Given the description of an element on the screen output the (x, y) to click on. 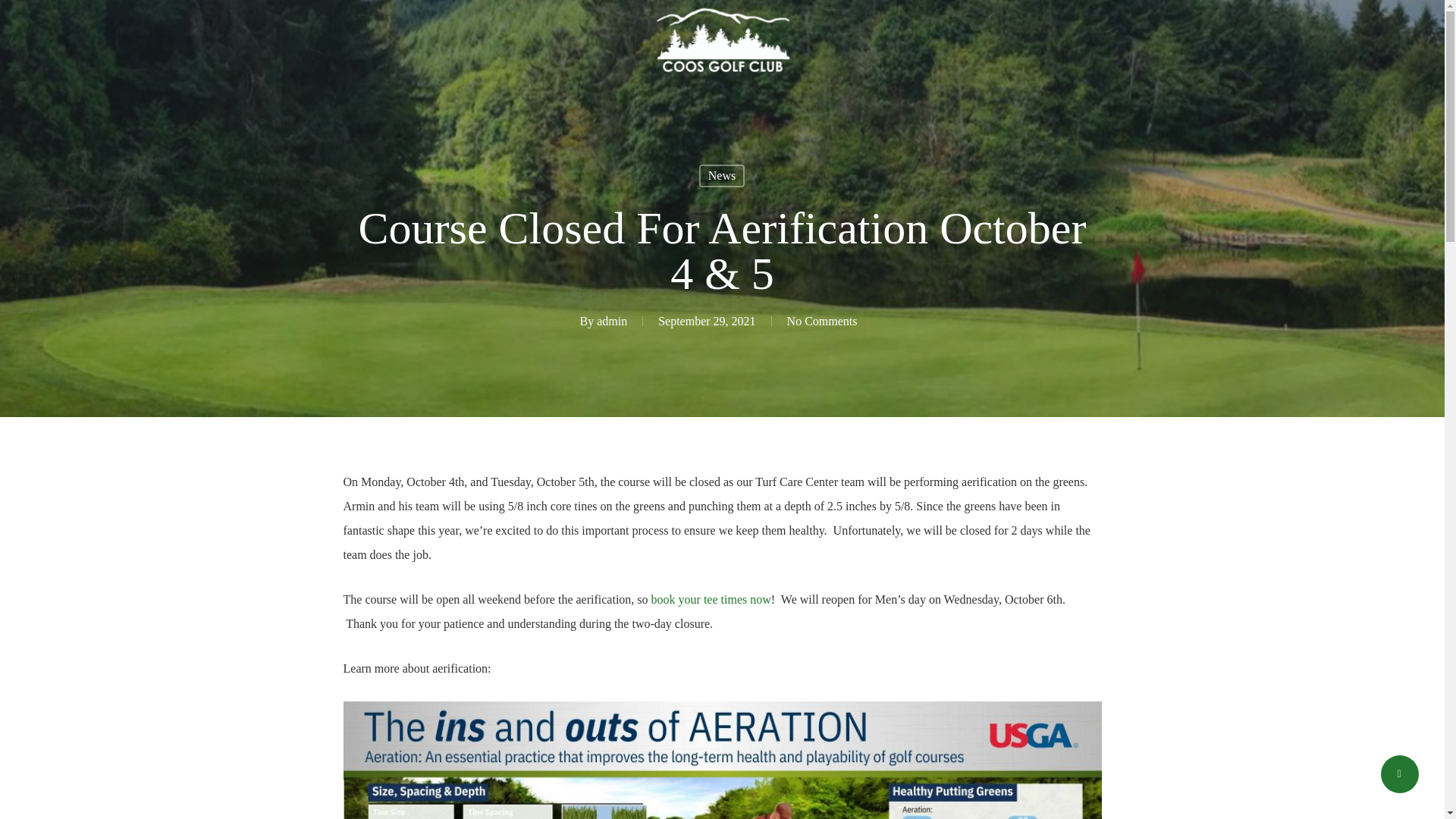
No Comments (822, 320)
News (721, 175)
book your tee times now (710, 599)
admin (611, 320)
Posts by admin (611, 320)
